Given the description of an element on the screen output the (x, y) to click on. 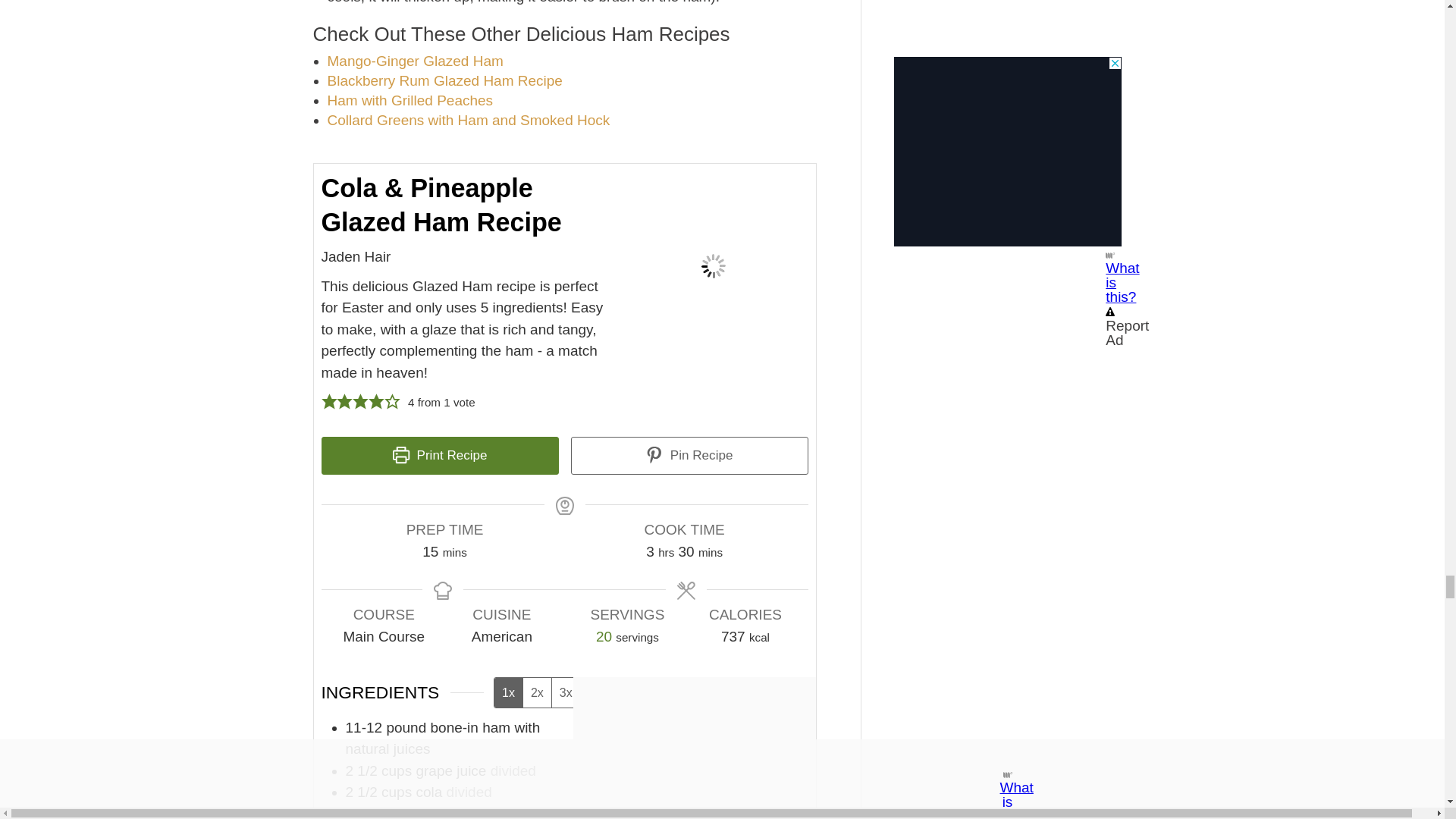
easter ham mango ginger glaze (415, 60)
blackberry easter rum glazed ham recipe (444, 80)
